Given the description of an element on the screen output the (x, y) to click on. 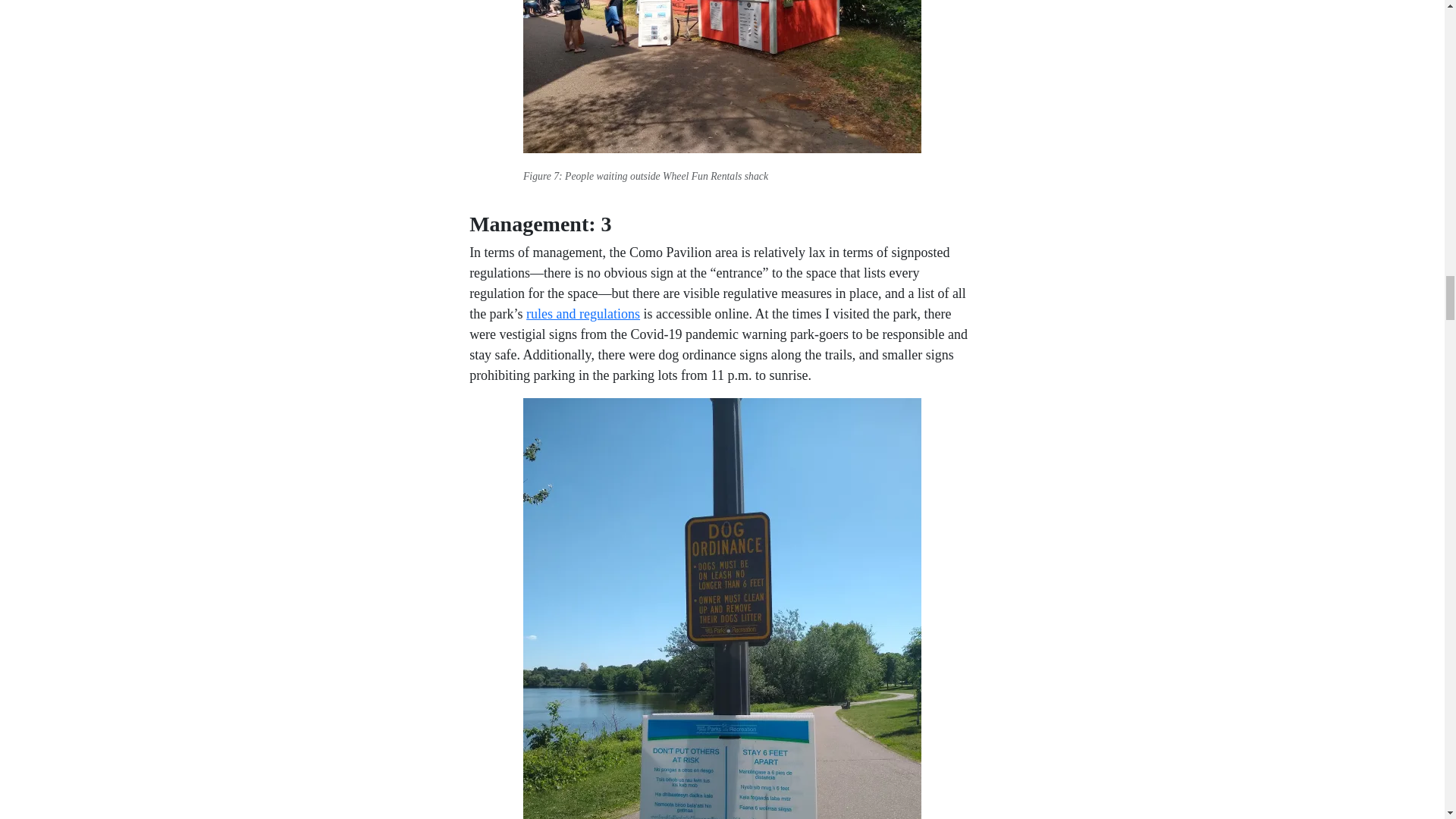
rules and regulations (582, 313)
